Given the description of an element on the screen output the (x, y) to click on. 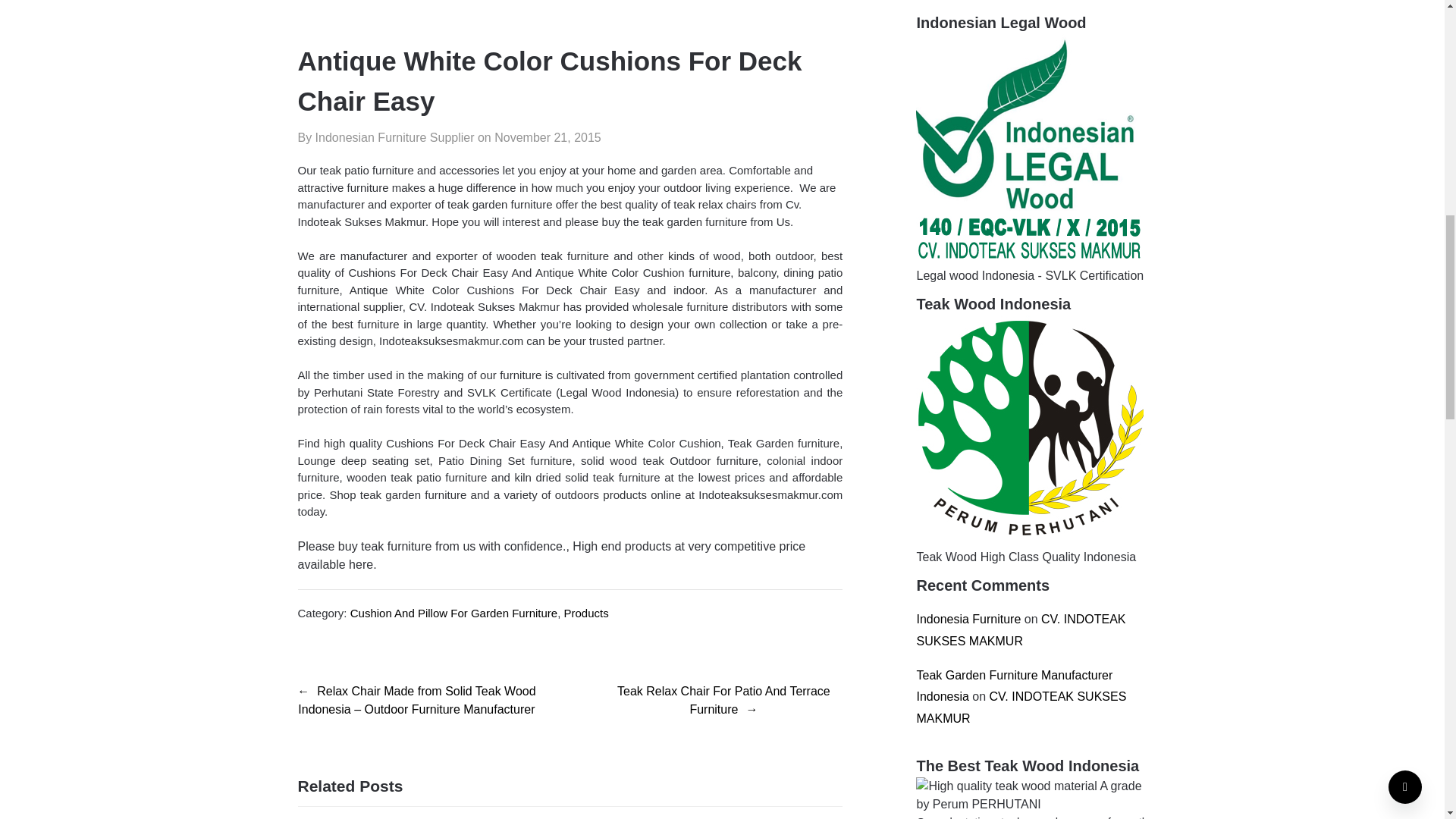
November 21, 2015 (548, 137)
Products (586, 612)
Cushion And Pillow For Garden Furniture (453, 612)
Teak Relax Chair For Patio And Terrace Furniture (722, 700)
